Given the description of an element on the screen output the (x, y) to click on. 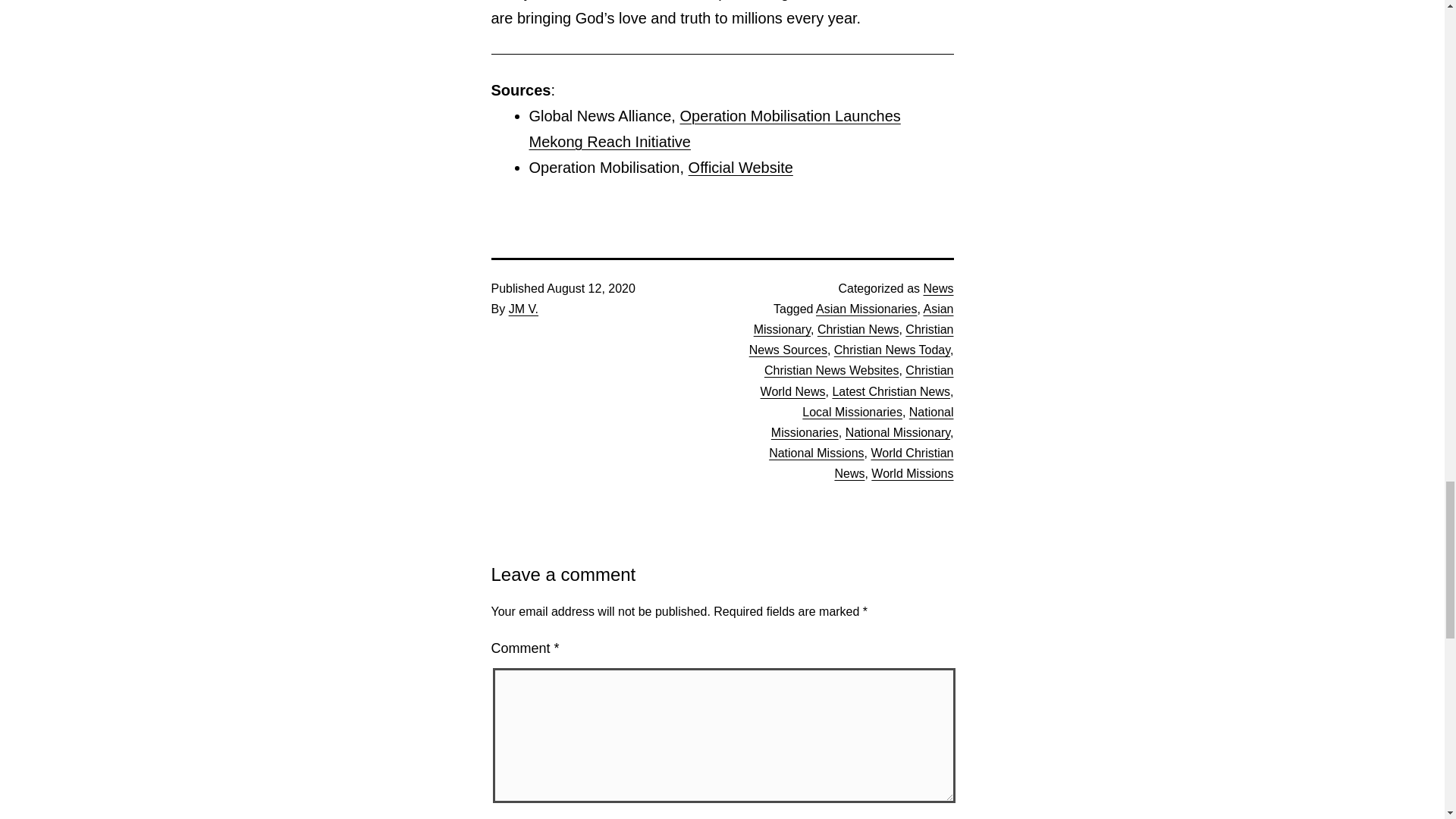
News (938, 287)
Christian News (857, 328)
Christian News Today (892, 349)
Christian News Sources (851, 339)
Latest Christian News (890, 391)
JM V. (523, 308)
Operation Mobilisation Launches Mekong Reach Initiative (715, 128)
Christian News Websites (831, 369)
Christian World News (856, 380)
Local Missionaries (852, 411)
